Given the description of an element on the screen output the (x, y) to click on. 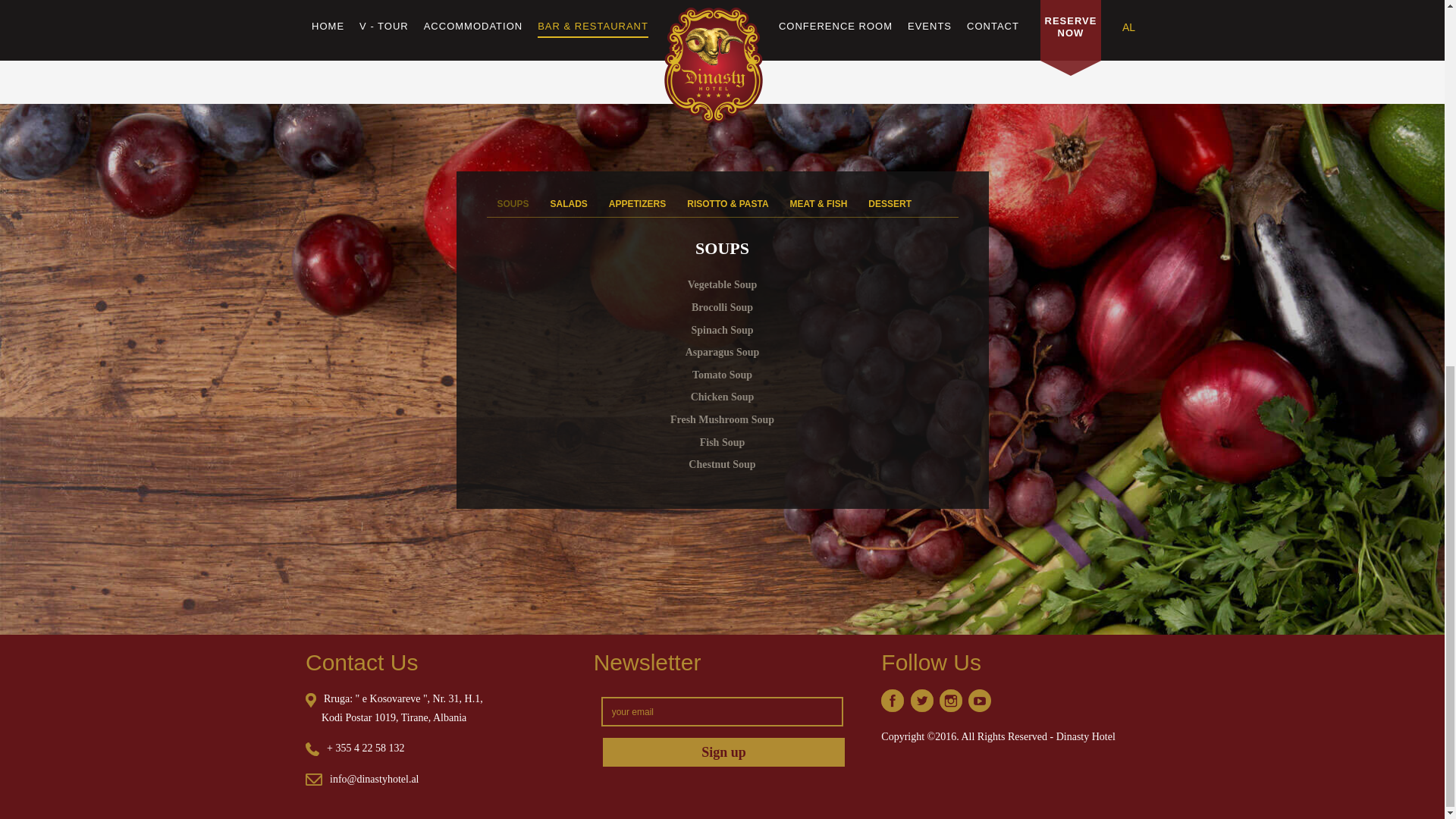
Sign up (723, 751)
your email (722, 711)
your email (722, 711)
Sign up (723, 751)
